Given the description of an element on the screen output the (x, y) to click on. 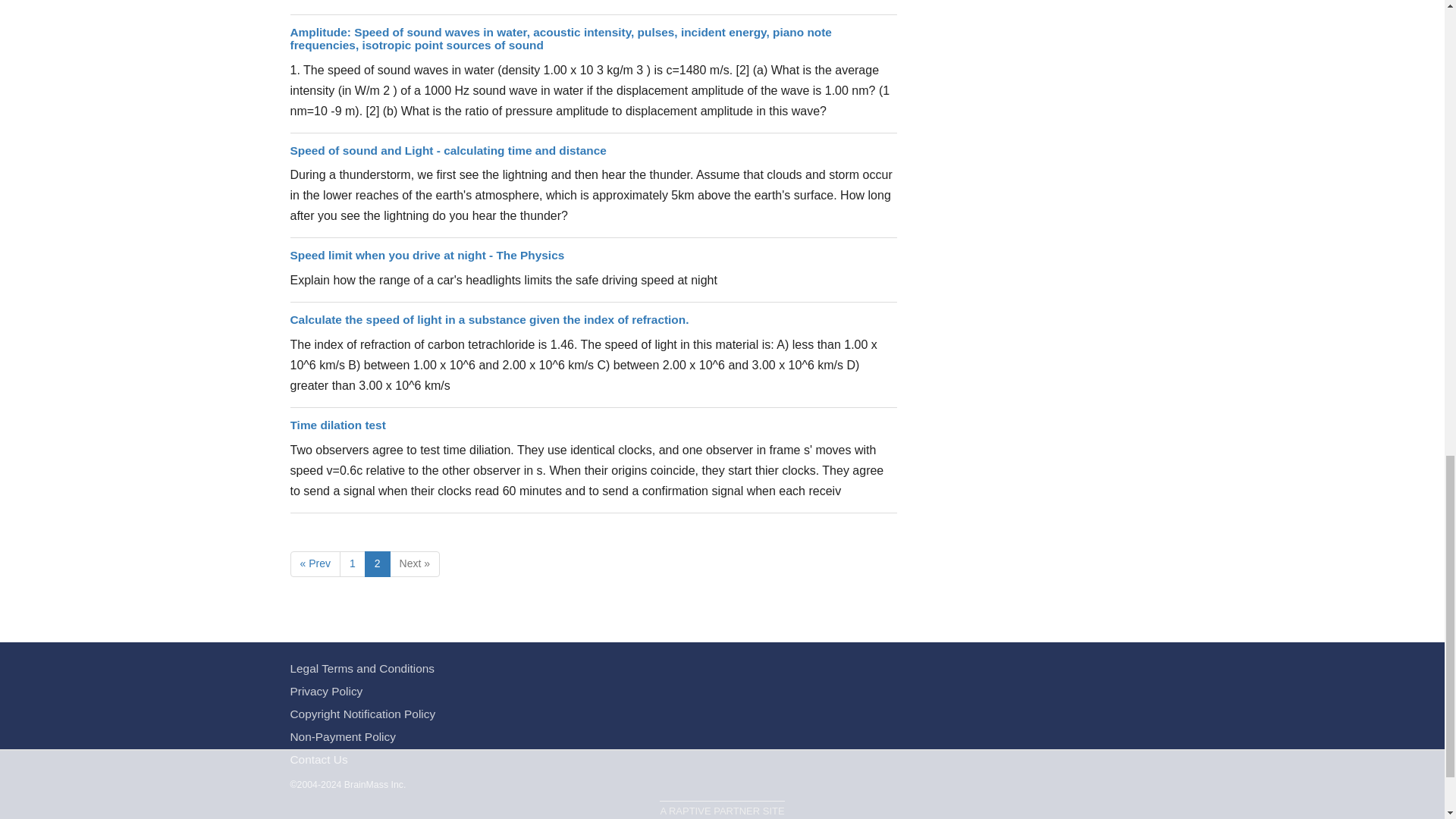
Speed limit when you drive at night - The Physics (426, 254)
Time dilation test (337, 424)
Speed of sound and Light - calculating time and distance (447, 150)
